Given the description of an element on the screen output the (x, y) to click on. 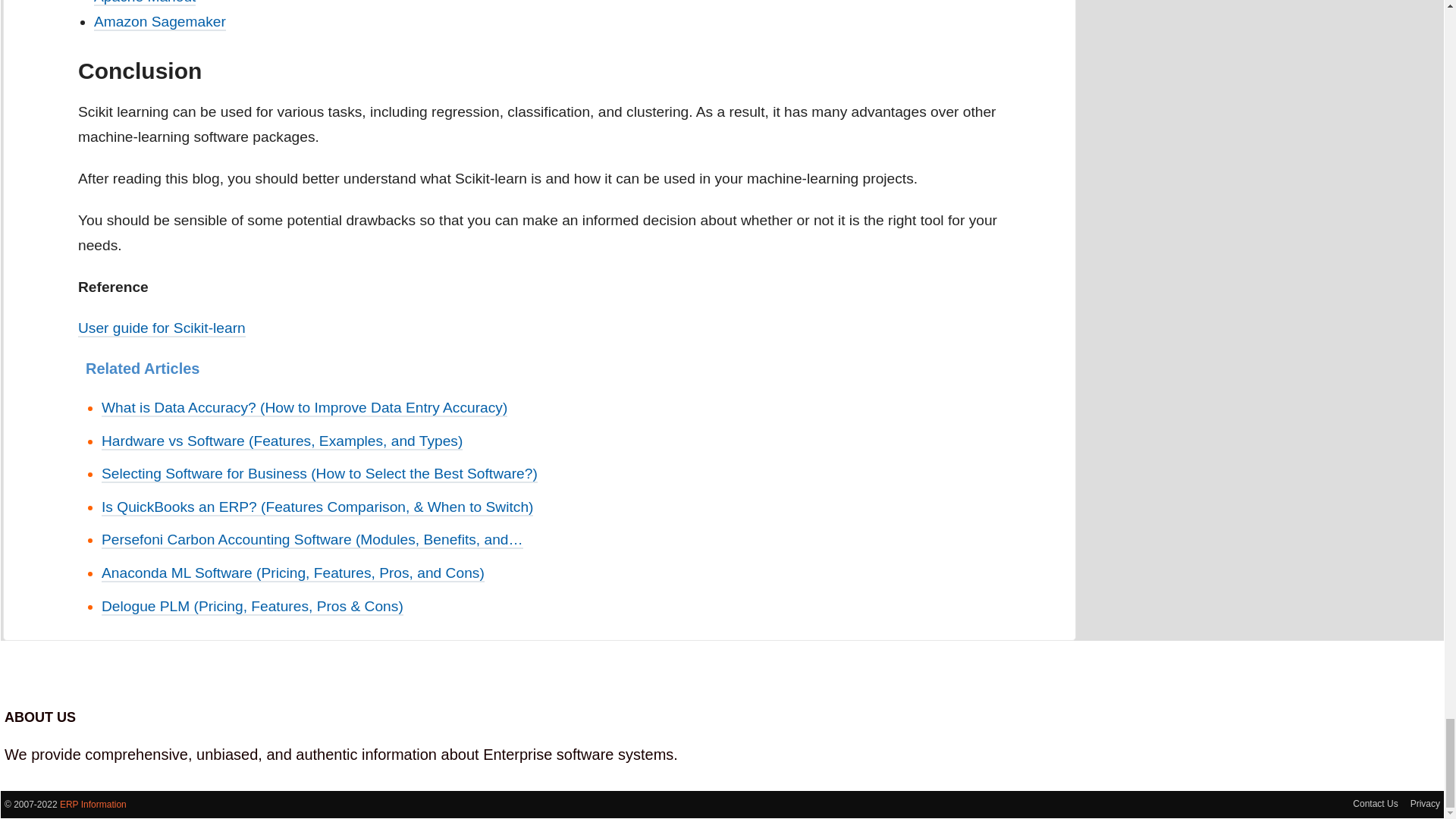
Apache Mahout (144, 2)
User guide for Scikit-learn (162, 328)
Amazon Sagemaker (159, 22)
